Given the description of an element on the screen output the (x, y) to click on. 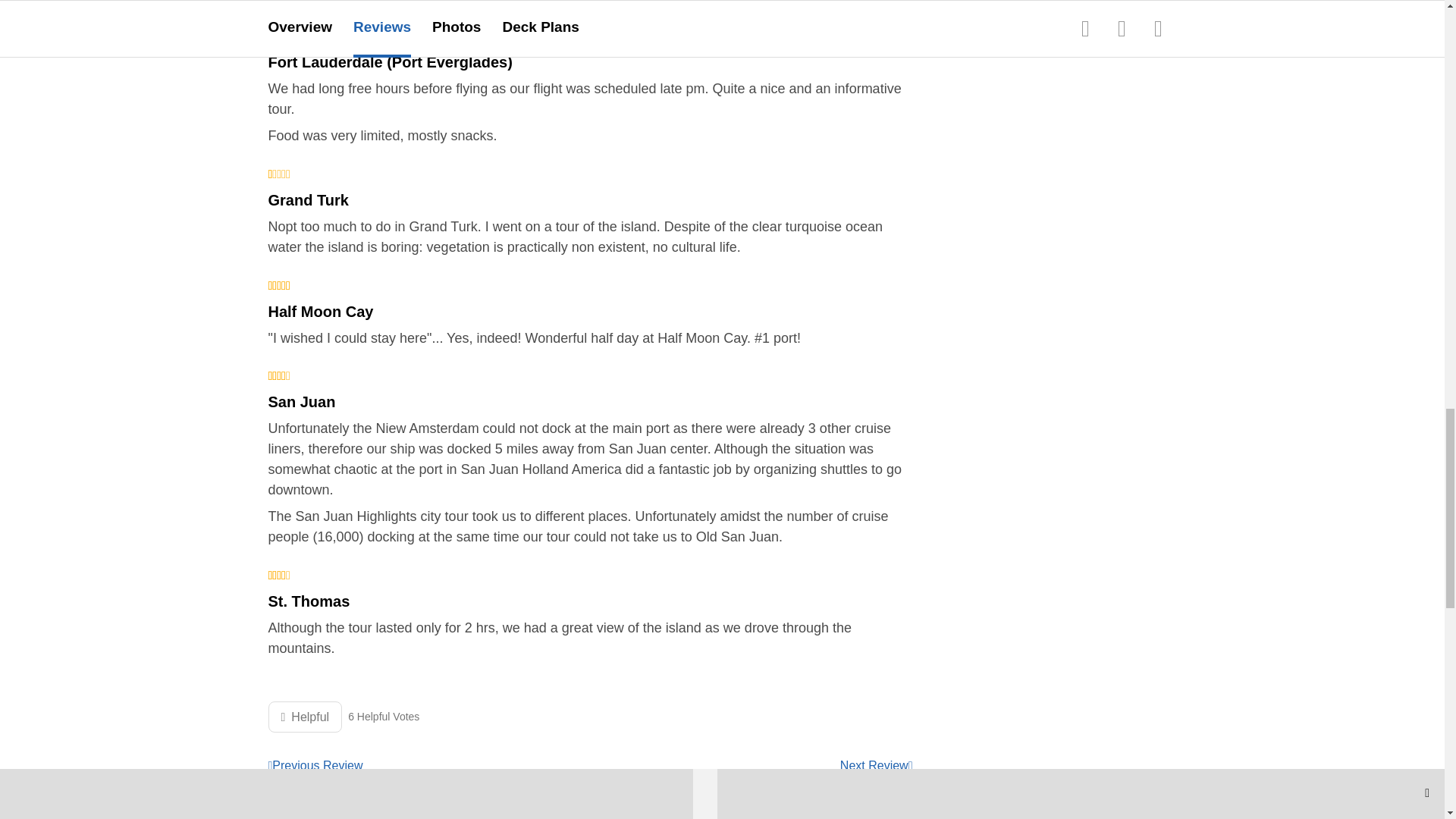
Helpful (304, 716)
Next Review (876, 765)
Previous Review (314, 765)
